Given the description of an element on the screen output the (x, y) to click on. 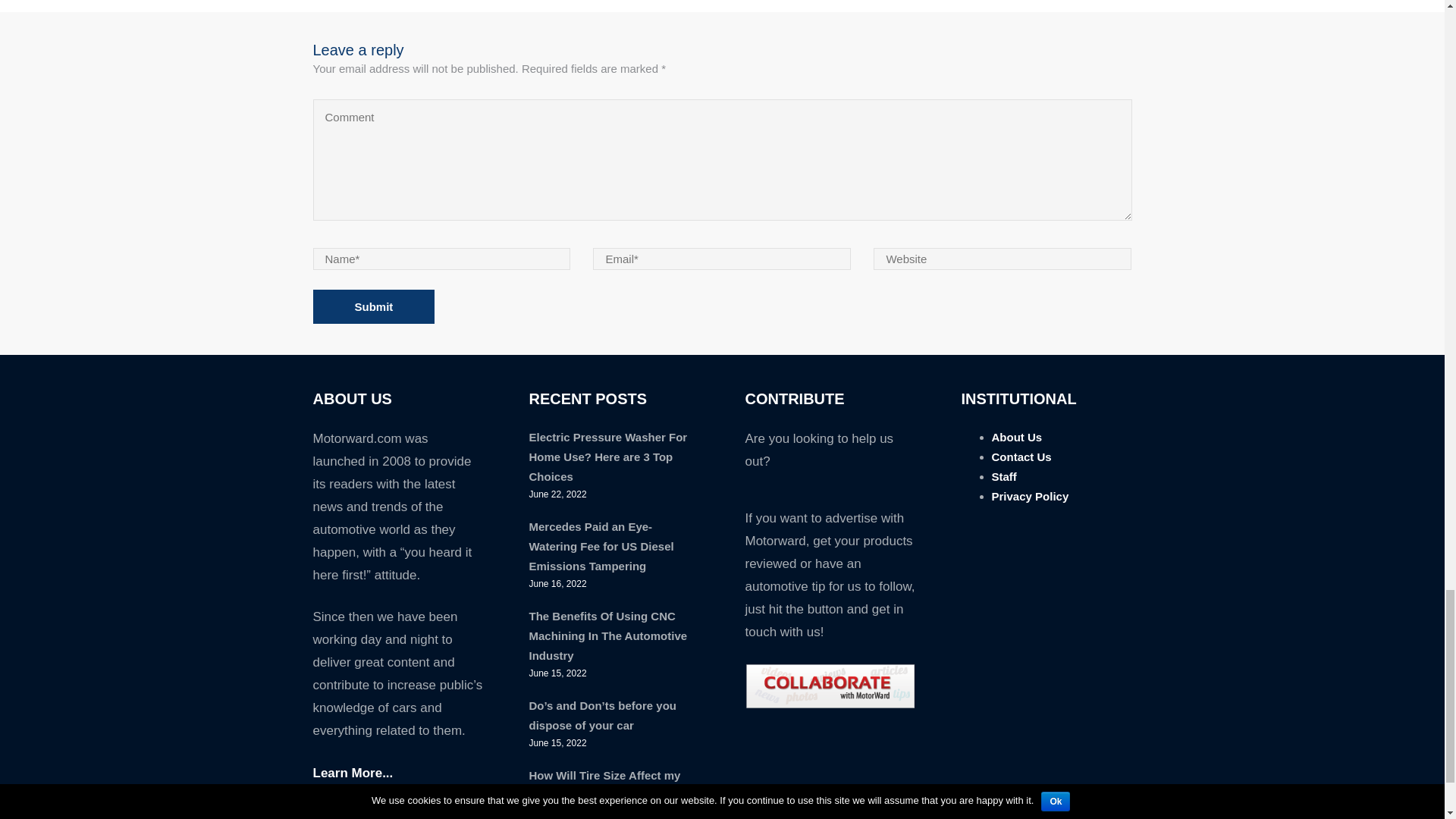
Submit (373, 306)
